Given the description of an element on the screen output the (x, y) to click on. 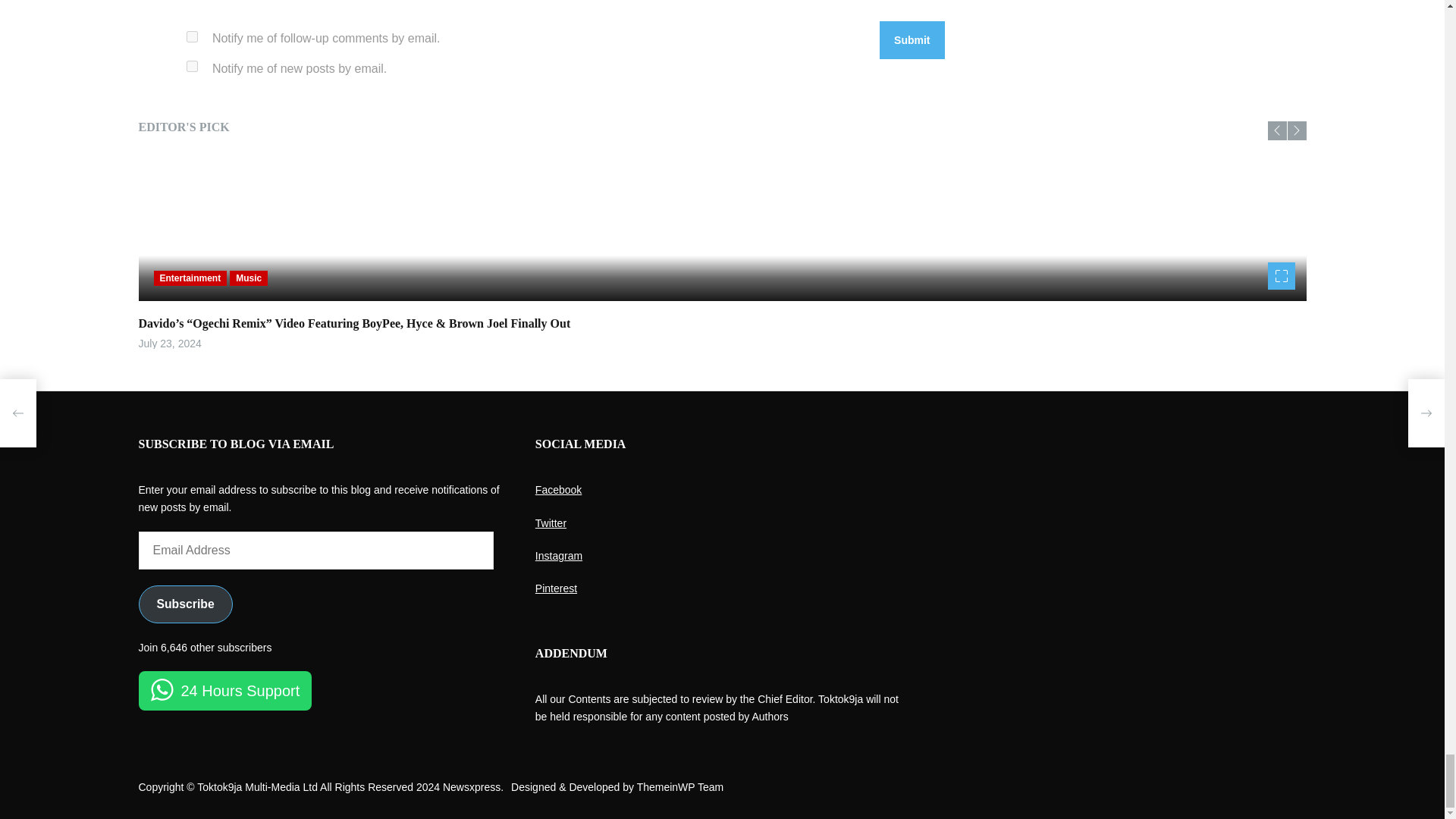
subscribe (192, 36)
subscribe (192, 66)
Submit (911, 39)
